Given the description of an element on the screen output the (x, y) to click on. 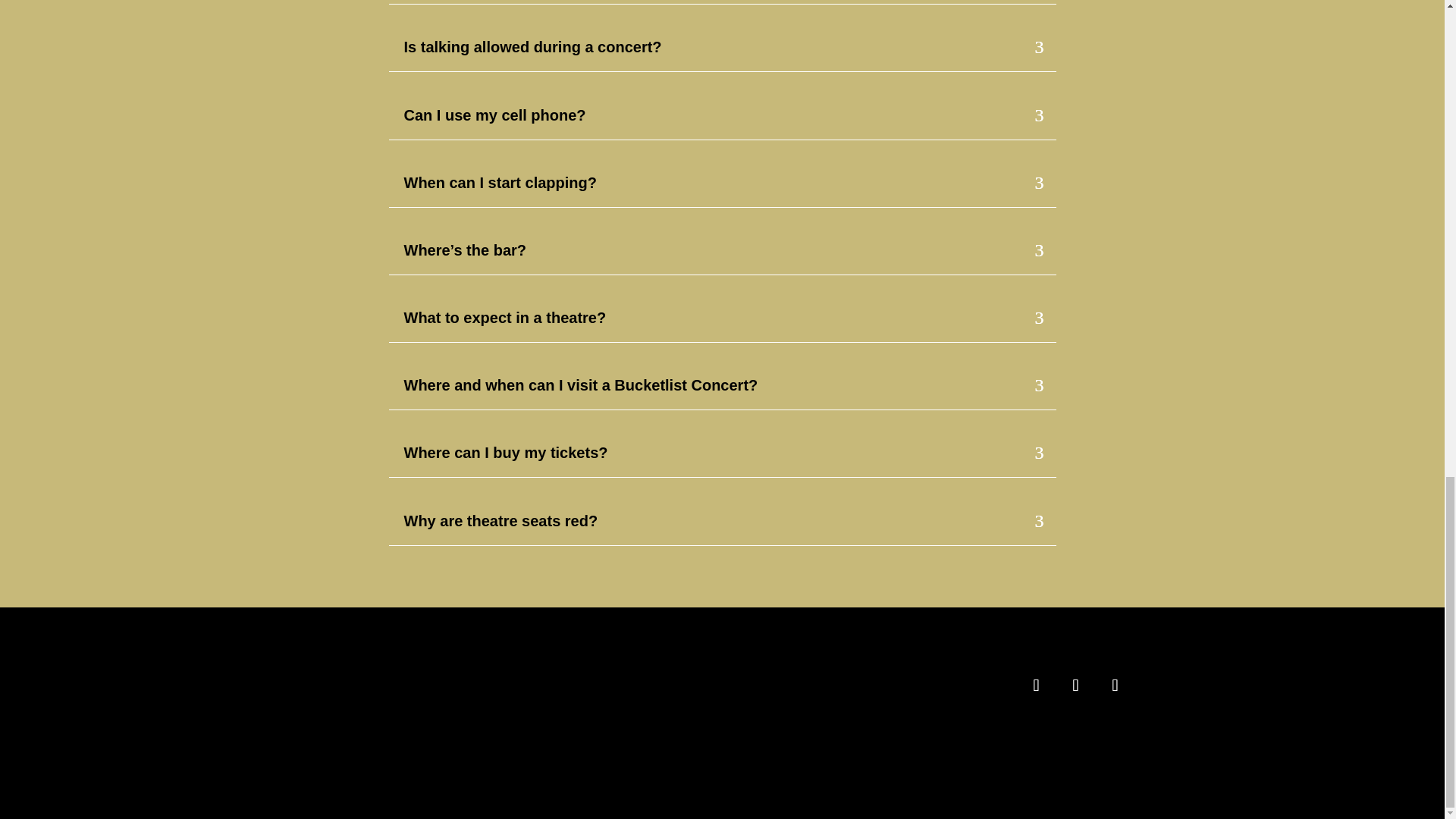
Bureau Magneet - online marketing (782, 743)
Volgknop (1114, 685)
Volgknop (1075, 685)
Bureau Magneet - online marketing (782, 743)
Volgknop (1035, 685)
